Given the description of an element on the screen output the (x, y) to click on. 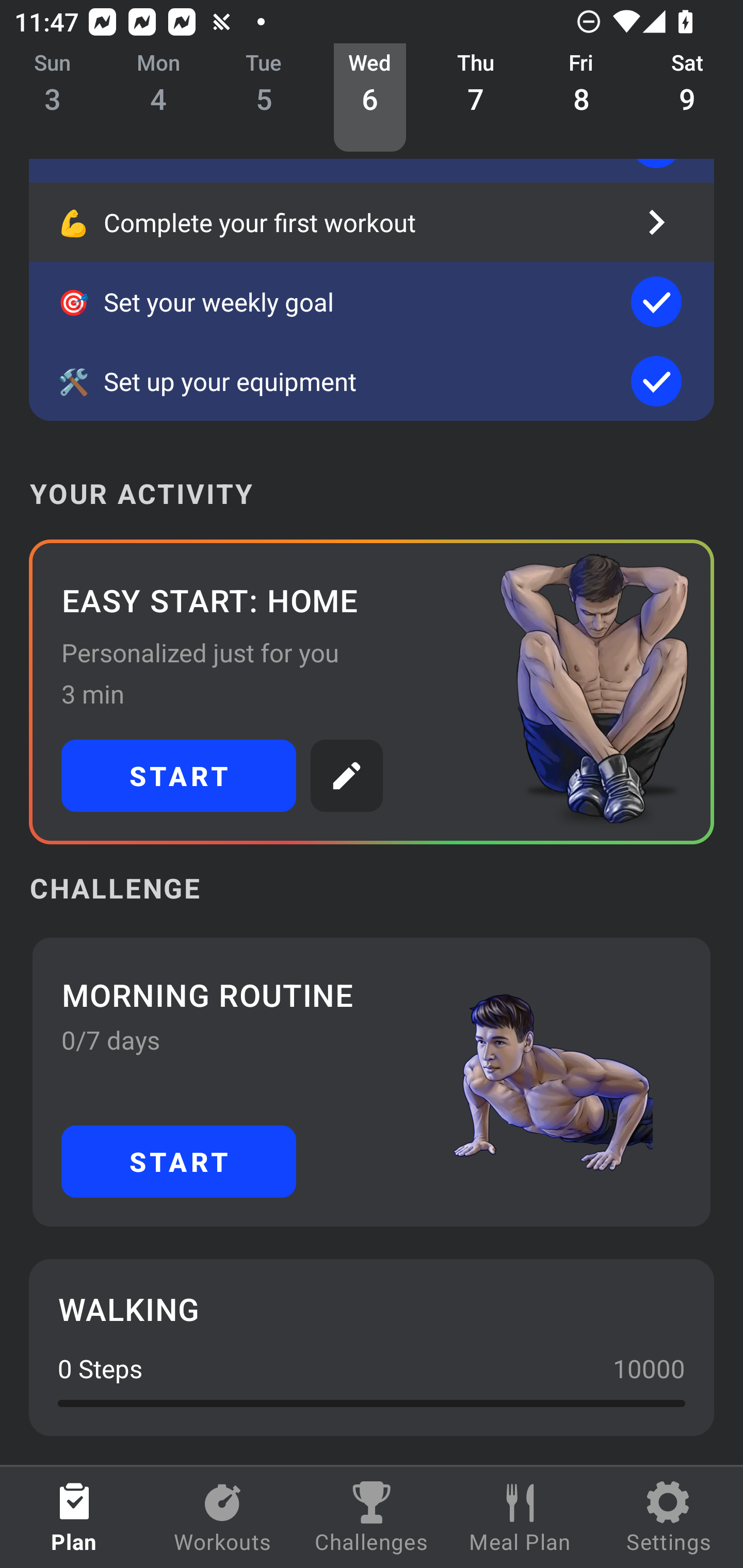
Sun 3 (52, 97)
Mon 4 (158, 97)
Tue 5 (264, 97)
Wed 6 (369, 97)
Thu 7 (475, 97)
Fri 8 (581, 97)
Sat 9 (687, 97)
💪 Complete your first workout (371, 221)
START (178, 776)
MORNING ROUTINE 0/7 days START (371, 1082)
START (178, 1161)
WALKING 0 Steps 10000 0.0 (371, 1347)
 Workouts  (222, 1517)
 Challenges  (371, 1517)
 Meal Plan  (519, 1517)
 Settings  (668, 1517)
